Given the description of an element on the screen output the (x, y) to click on. 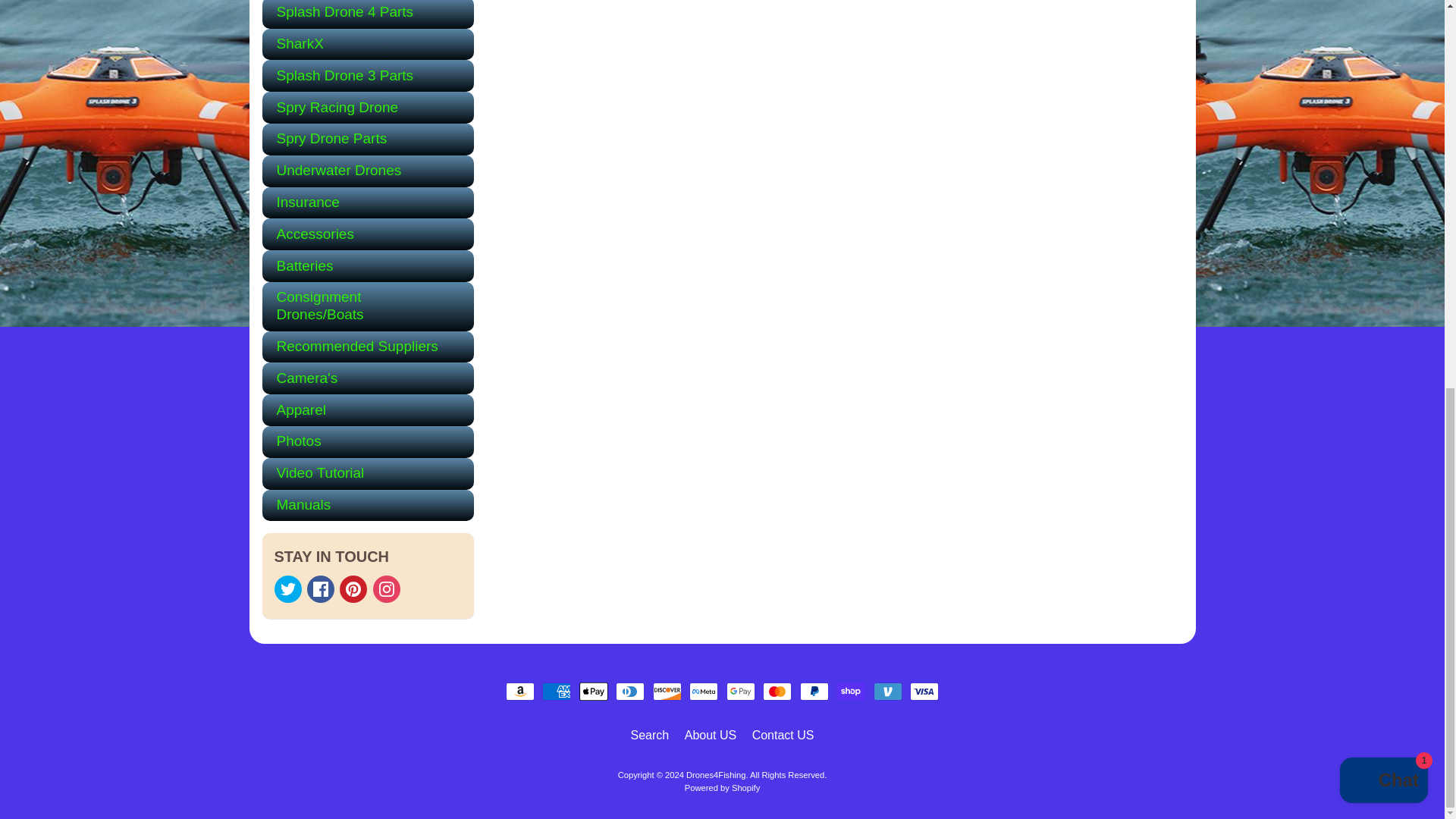
Accessories (368, 234)
Facebook (320, 588)
Twitter (288, 588)
Spry Racing Drone (368, 107)
Underwater Drones (368, 171)
Google Pay (740, 691)
SharkX (368, 44)
PayPal (813, 691)
Splash Drone 3 Parts (368, 75)
Shopify online store chat (1383, 45)
Instagram (386, 588)
Photos (368, 441)
Amazon (519, 691)
Batteries (368, 265)
Apparel (368, 409)
